Given the description of an element on the screen output the (x, y) to click on. 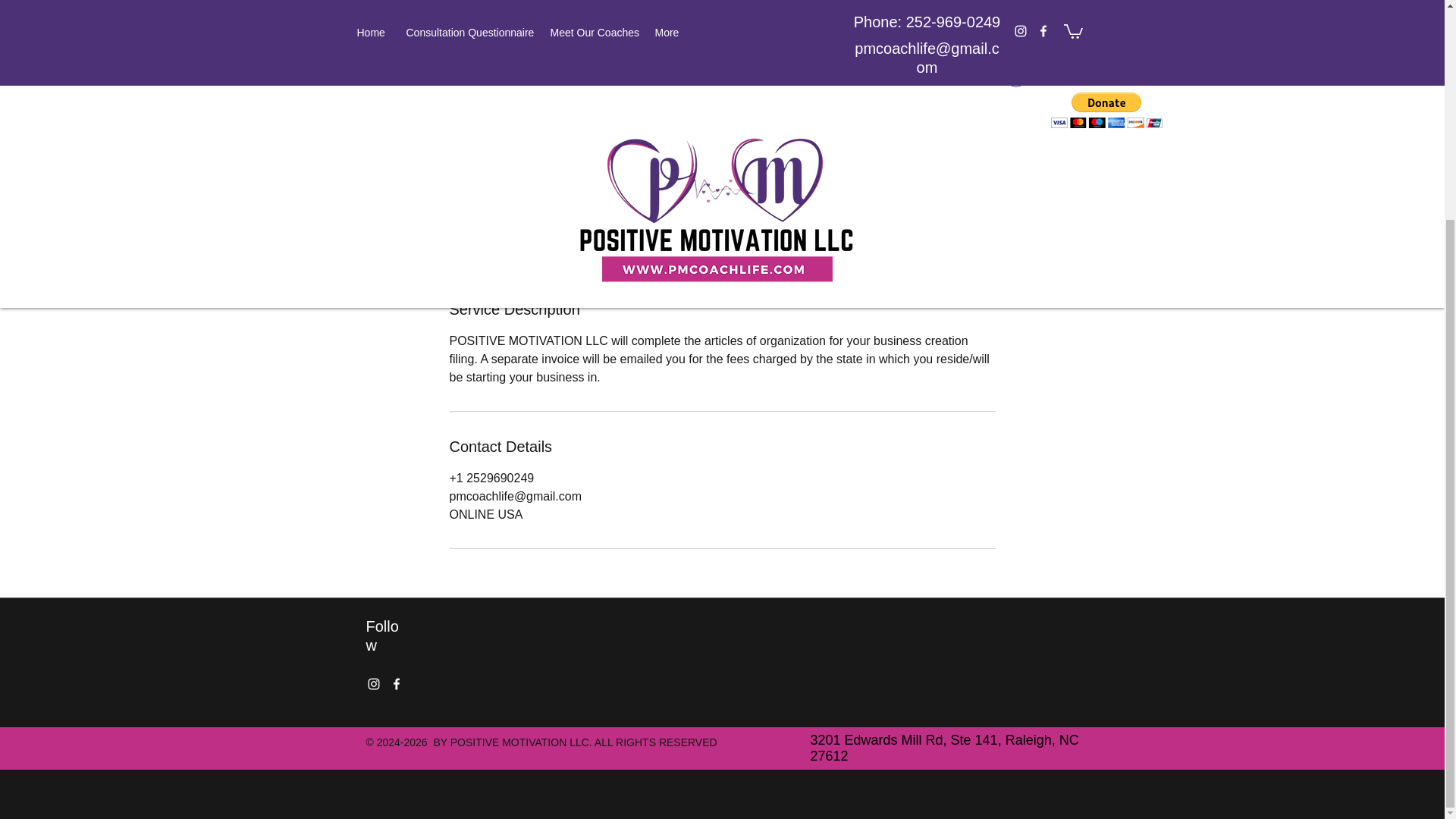
Book Now (498, 234)
Twitter Follow (450, 683)
